Given the description of an element on the screen output the (x, y) to click on. 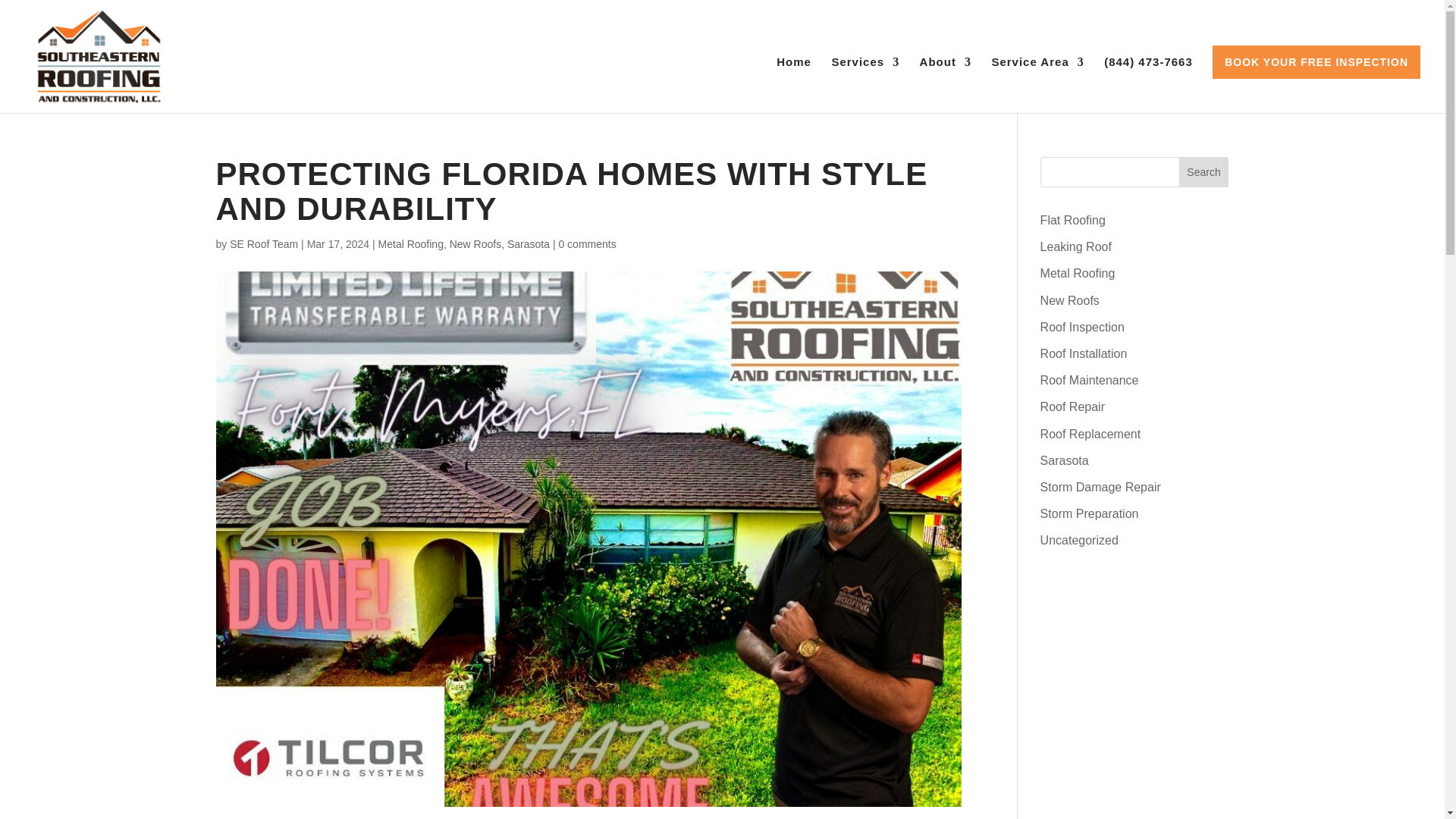
About (945, 84)
Search (1203, 172)
BOOK YOUR FREE INSPECTION (1316, 61)
Posts by SE Roof Team (264, 244)
Services (865, 84)
Service Area (1037, 84)
